Given the description of an element on the screen output the (x, y) to click on. 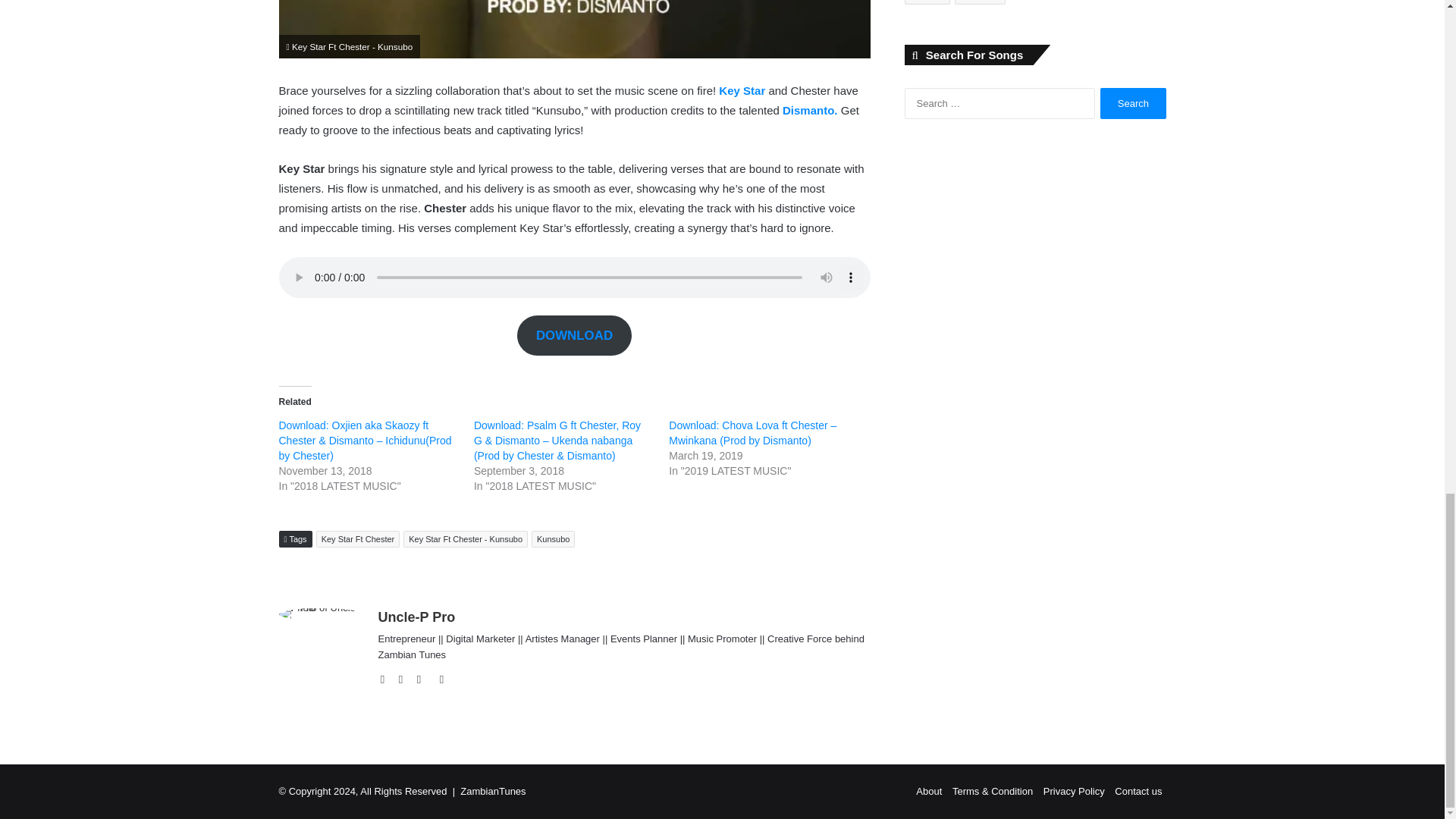
Search (1133, 102)
DOWNLOAD (573, 335)
Key Star (743, 90)
Dismanto. (812, 110)
Key Star Ft Chester (357, 538)
Search (1133, 102)
